Given the description of an element on the screen output the (x, y) to click on. 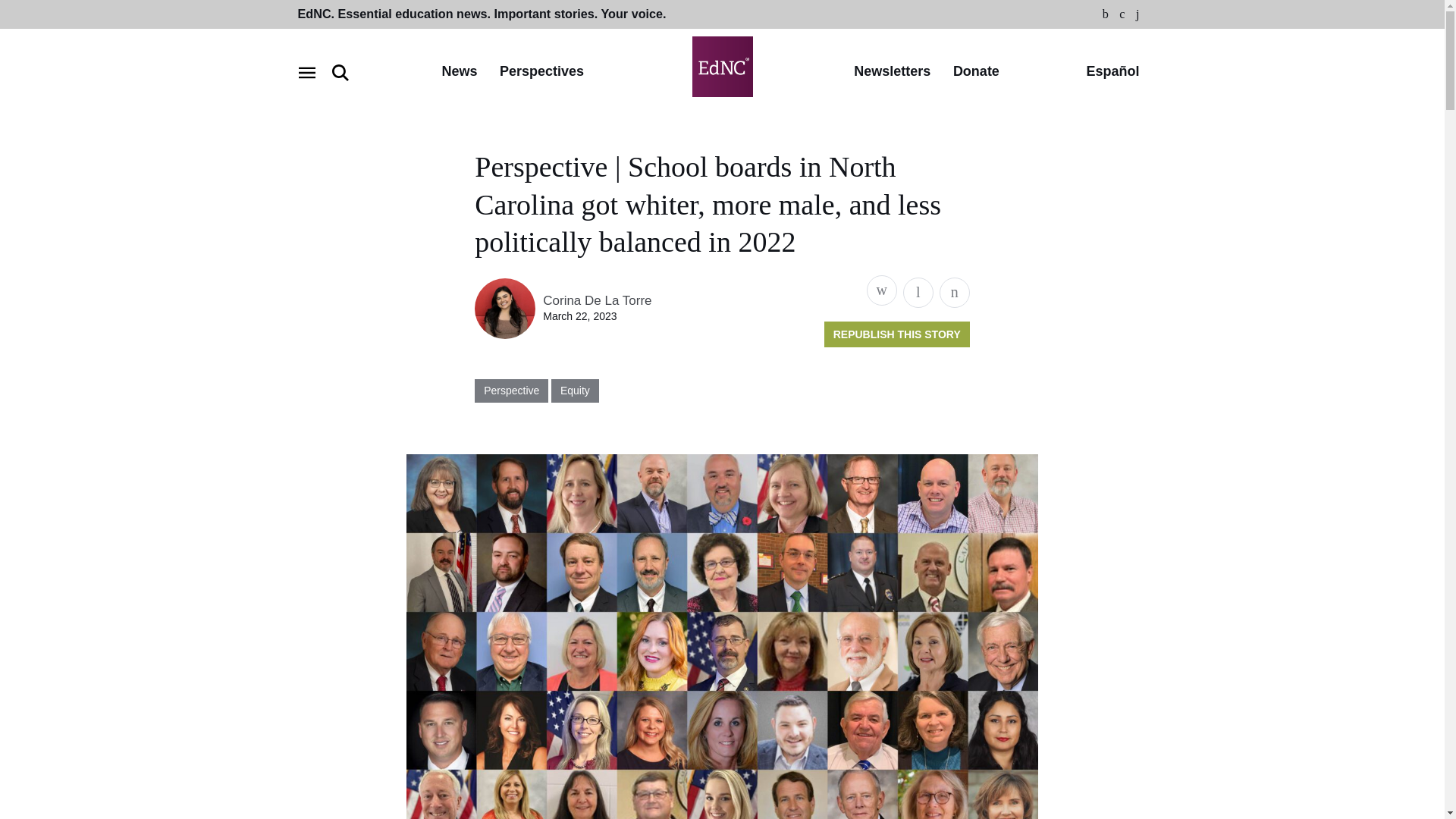
Donate (975, 71)
Perspectives (541, 71)
Corina De La Torre (596, 300)
Share this page (881, 290)
Open navigation (306, 72)
Newsletters (891, 71)
News (459, 71)
